Given the description of an element on the screen output the (x, y) to click on. 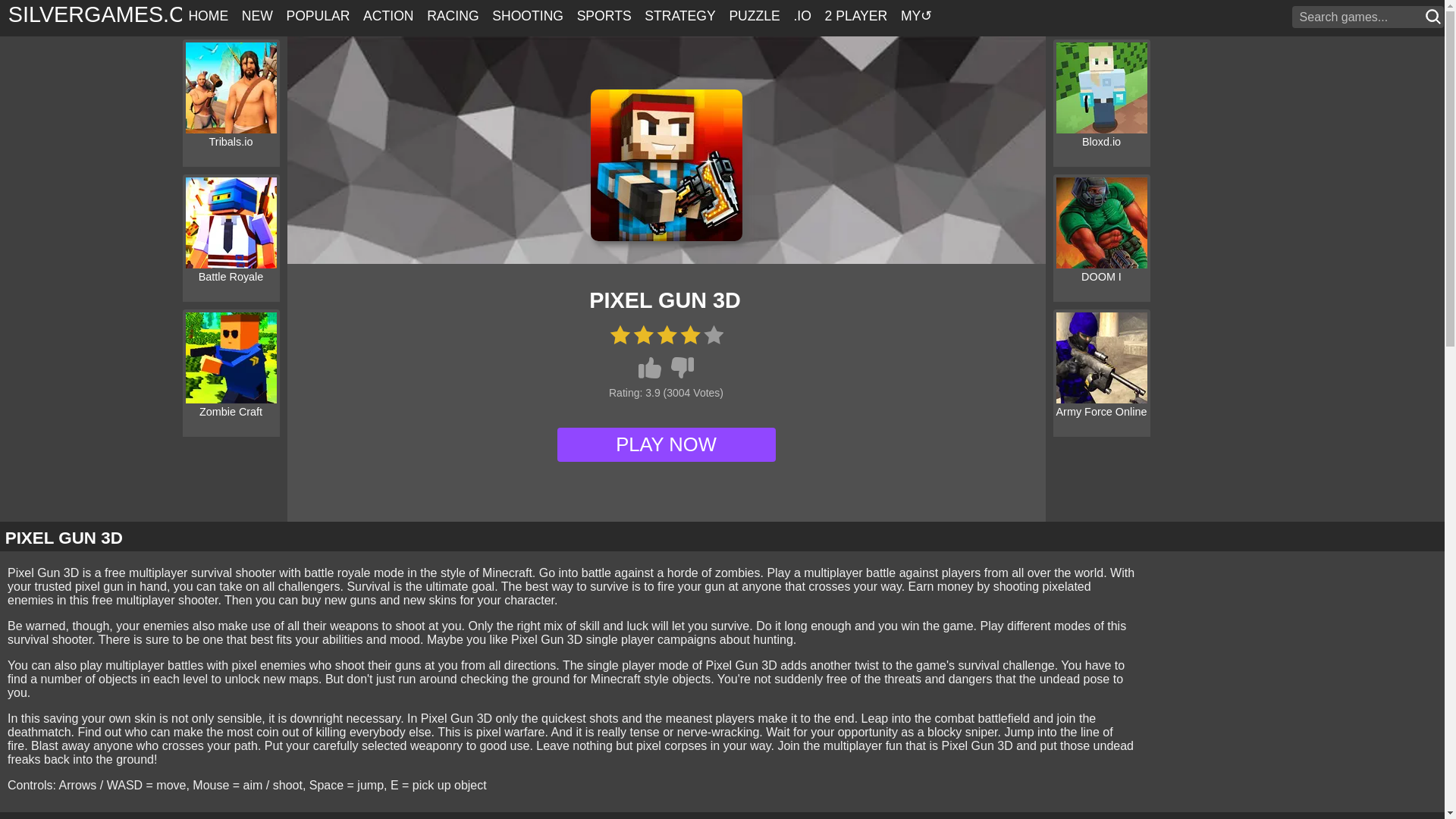
Search games... (1360, 16)
SHOOTING (526, 18)
HOME (208, 18)
PLAY NOW (665, 444)
ACTION (388, 18)
RACING (452, 18)
SPORTS (604, 18)
2 PLAYER (855, 18)
STRATEGY (679, 18)
POPULAR (317, 18)
PUZZLE (754, 18)
NEW (256, 18)
SILVERGAMES.COM (114, 14)
